Given the description of an element on the screen output the (x, y) to click on. 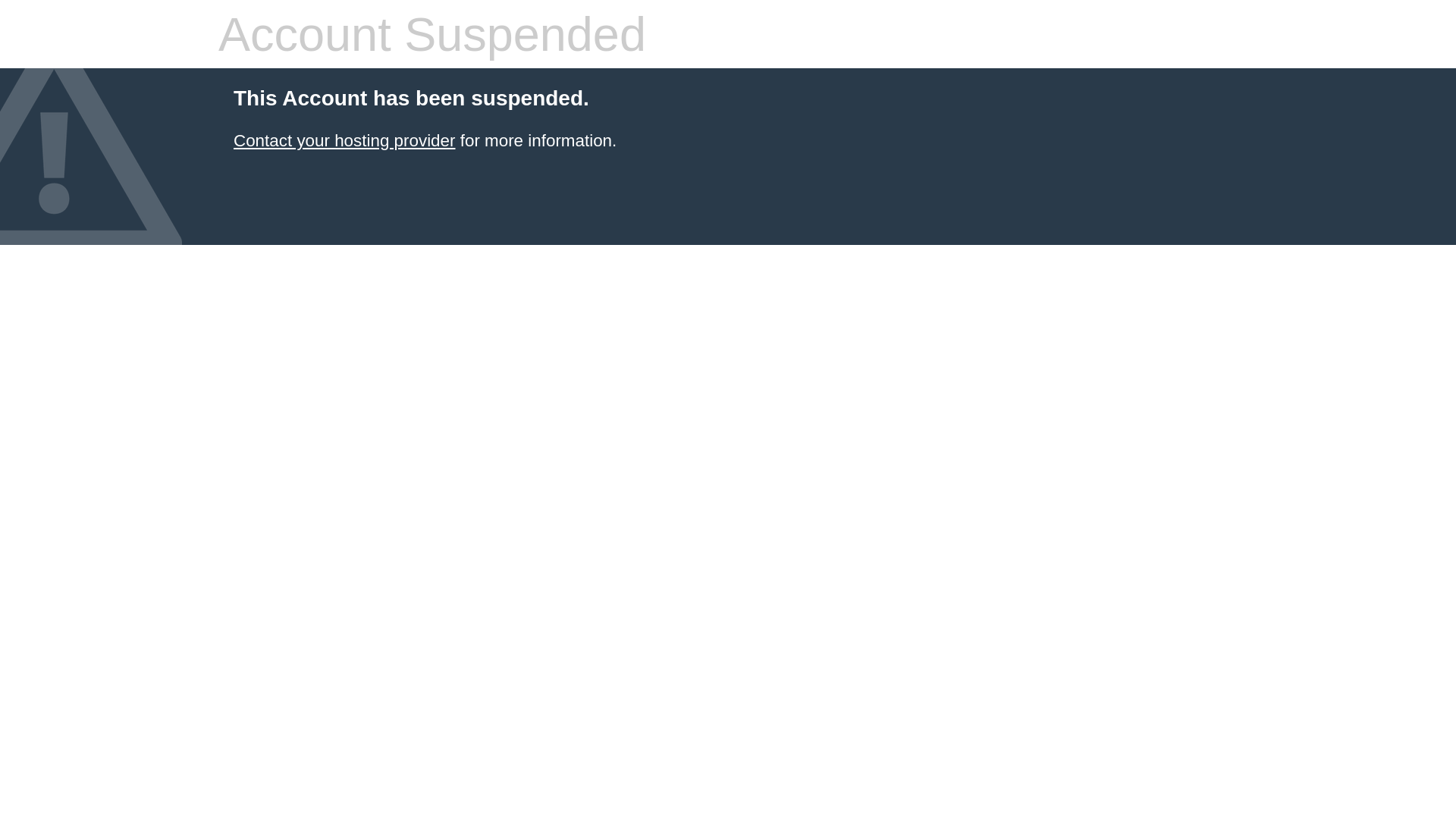
Contact your hosting provider Element type: text (344, 140)
